Given the description of an element on the screen output the (x, y) to click on. 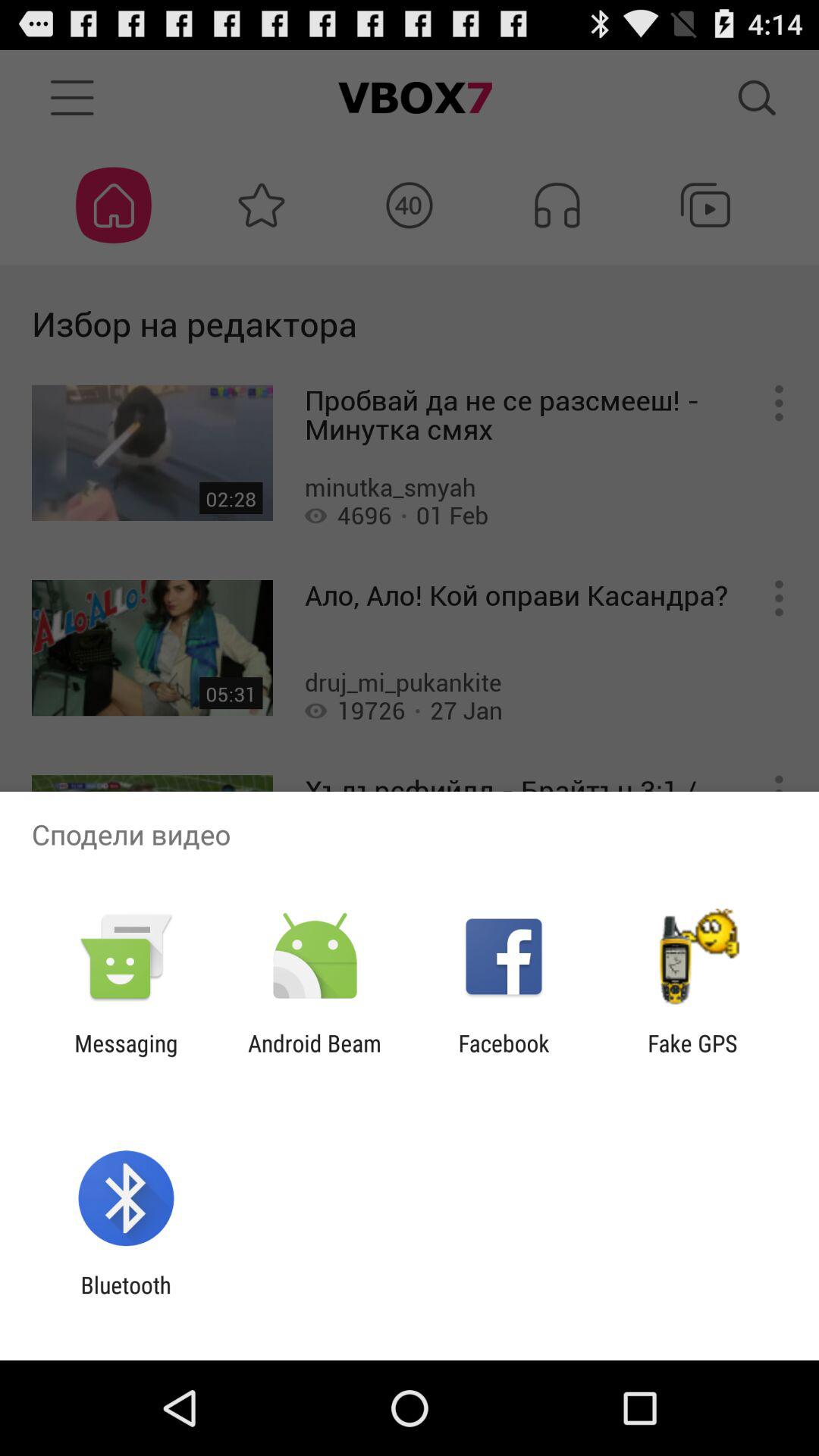
launch the item next to the facebook app (692, 1056)
